Given the description of an element on the screen output the (x, y) to click on. 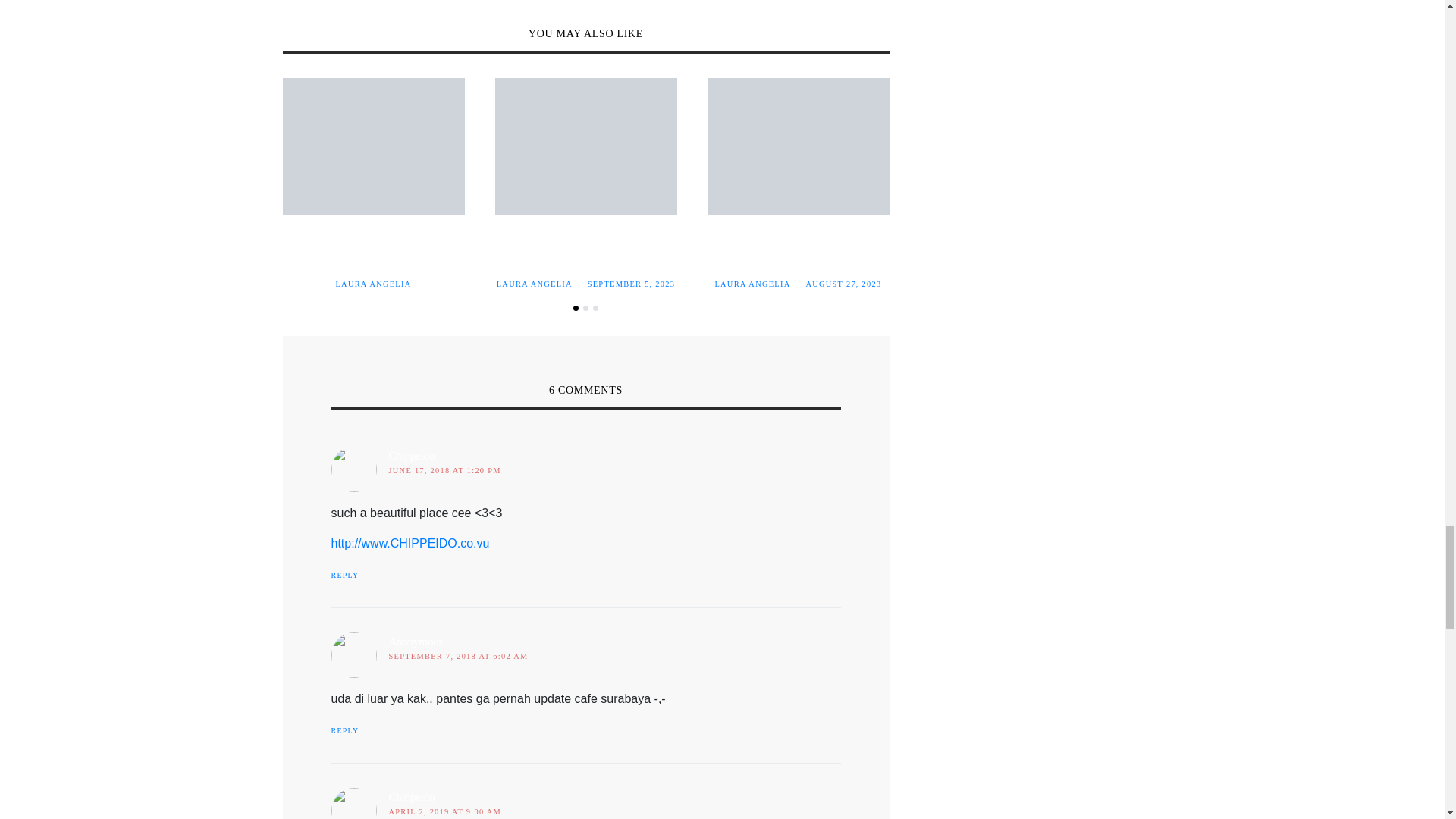
View all posts by Laura Angelia (752, 284)
View all posts by Laura Angelia (372, 284)
View all posts by Laura Angelia (534, 284)
